Given the description of an element on the screen output the (x, y) to click on. 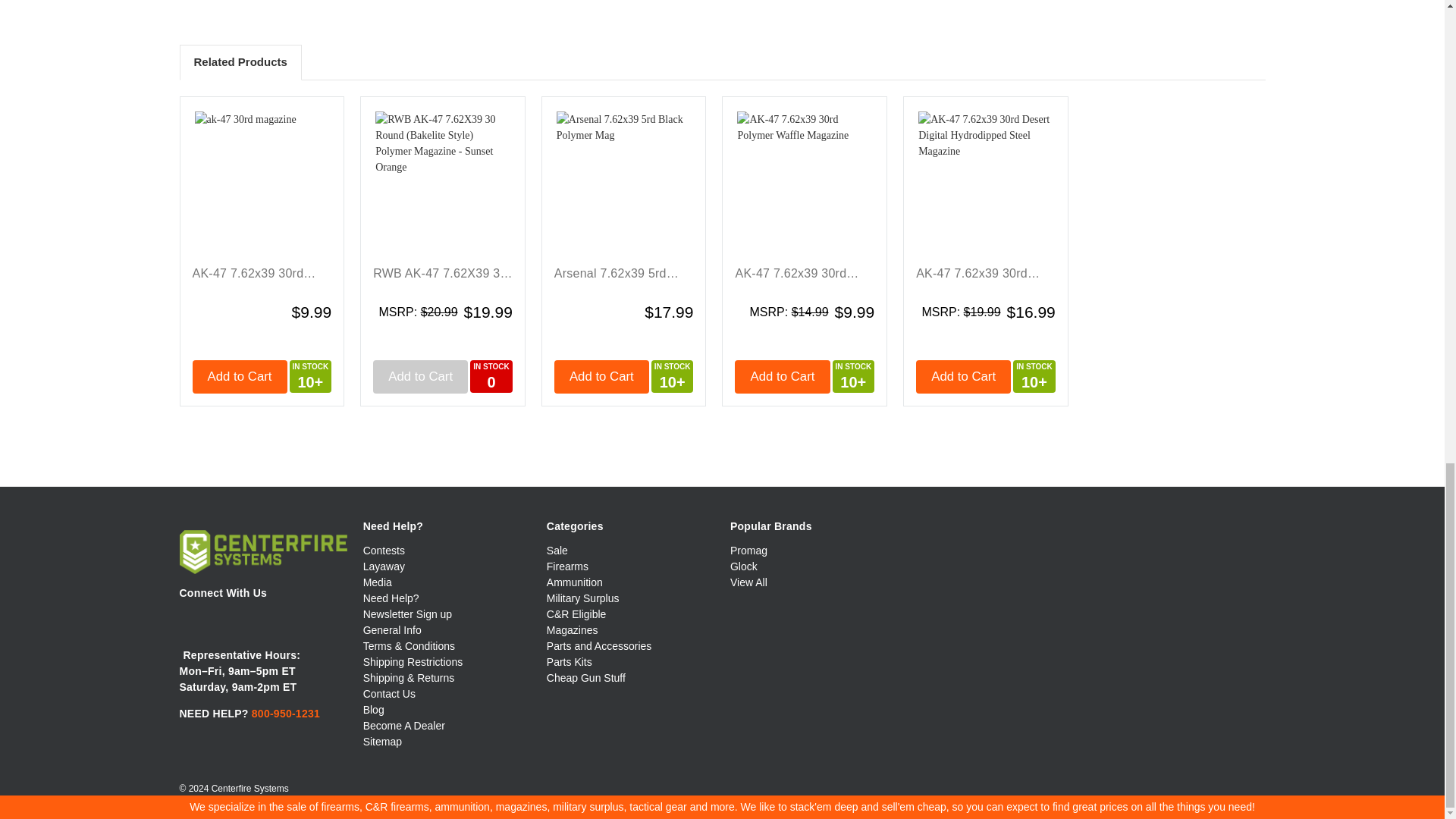
ak-47 30rd magazine (261, 182)
AK-47 7.62x39 30rd Polymer Waffle Magazine (804, 182)
Arsenal 7.62x39 5rd Black Polymer Mag (623, 182)
